Given the description of an element on the screen output the (x, y) to click on. 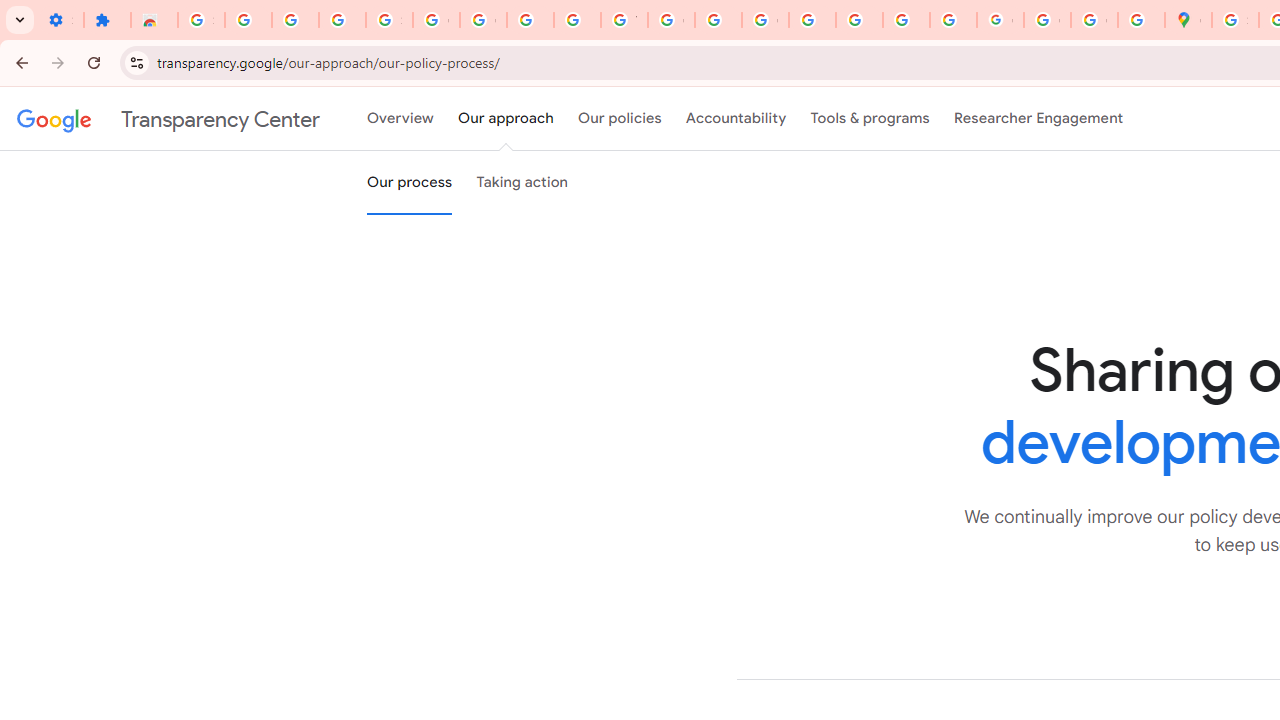
Sign in - Google Accounts (389, 20)
Sign in - Google Accounts (201, 20)
Google Maps (1188, 20)
Transparency Center (167, 119)
Researcher Engagement (1038, 119)
Our process (409, 183)
Accountability (735, 119)
